Given the description of an element on the screen output the (x, y) to click on. 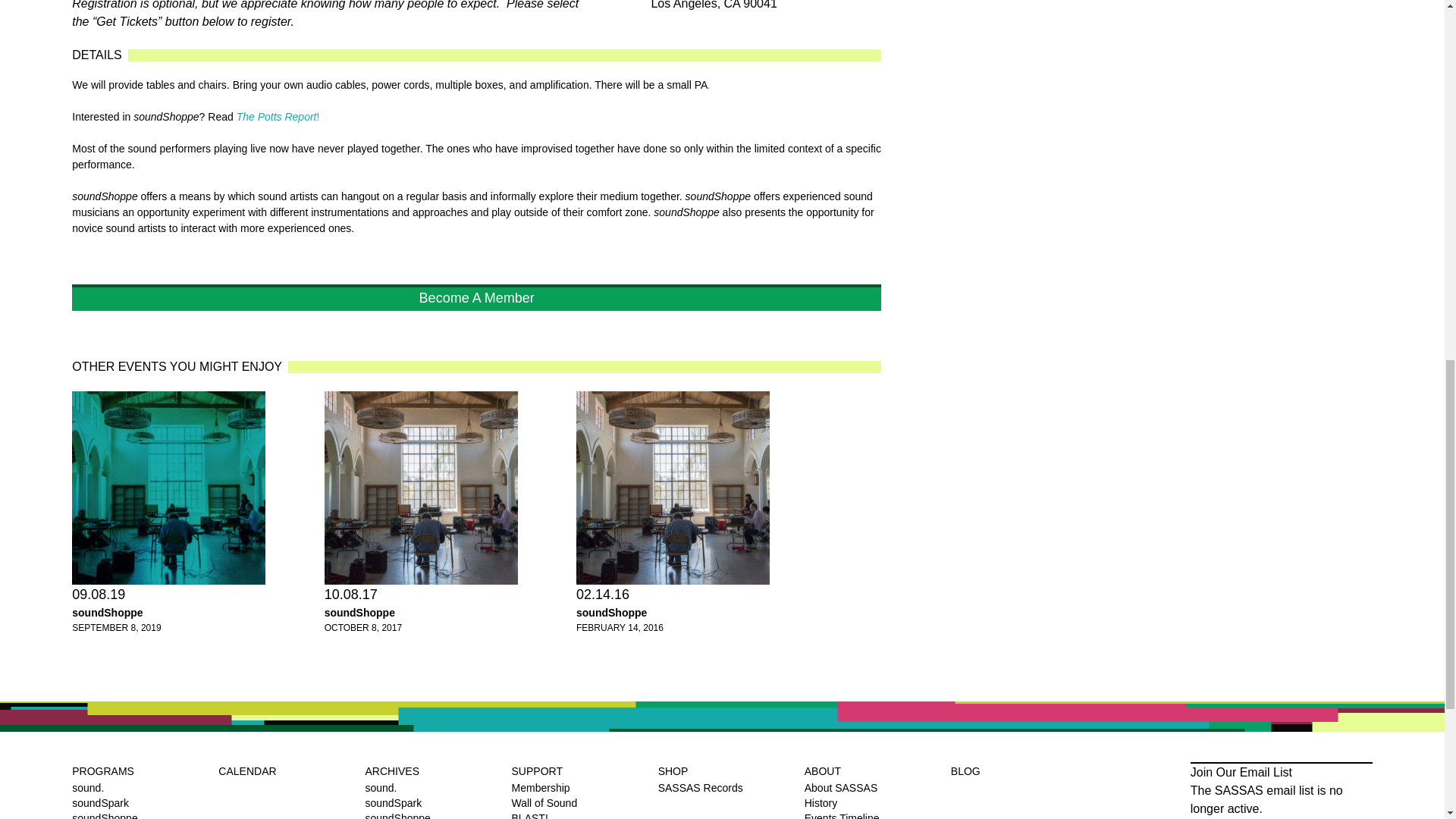
10.08.17 (421, 487)
Become A Member (475, 297)
09.08.19 (98, 594)
The Potts Report! (277, 116)
09.08.19 (167, 487)
Support SASSAS (475, 297)
Read the Potts Report! (277, 116)
02.14.16 (673, 487)
